Given the description of an element on the screen output the (x, y) to click on. 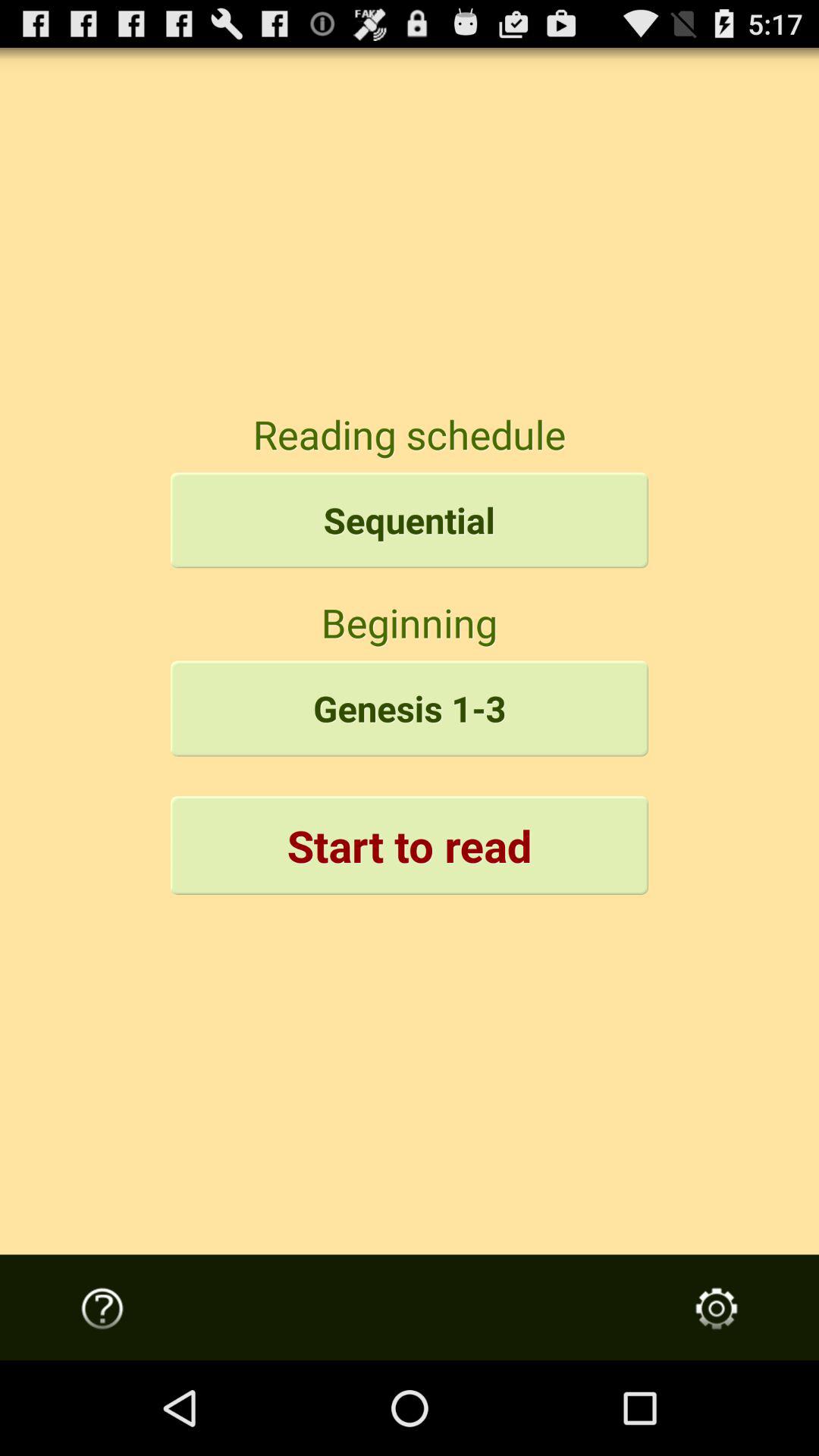
flip to the start to read button (409, 845)
